Given the description of an element on the screen output the (x, y) to click on. 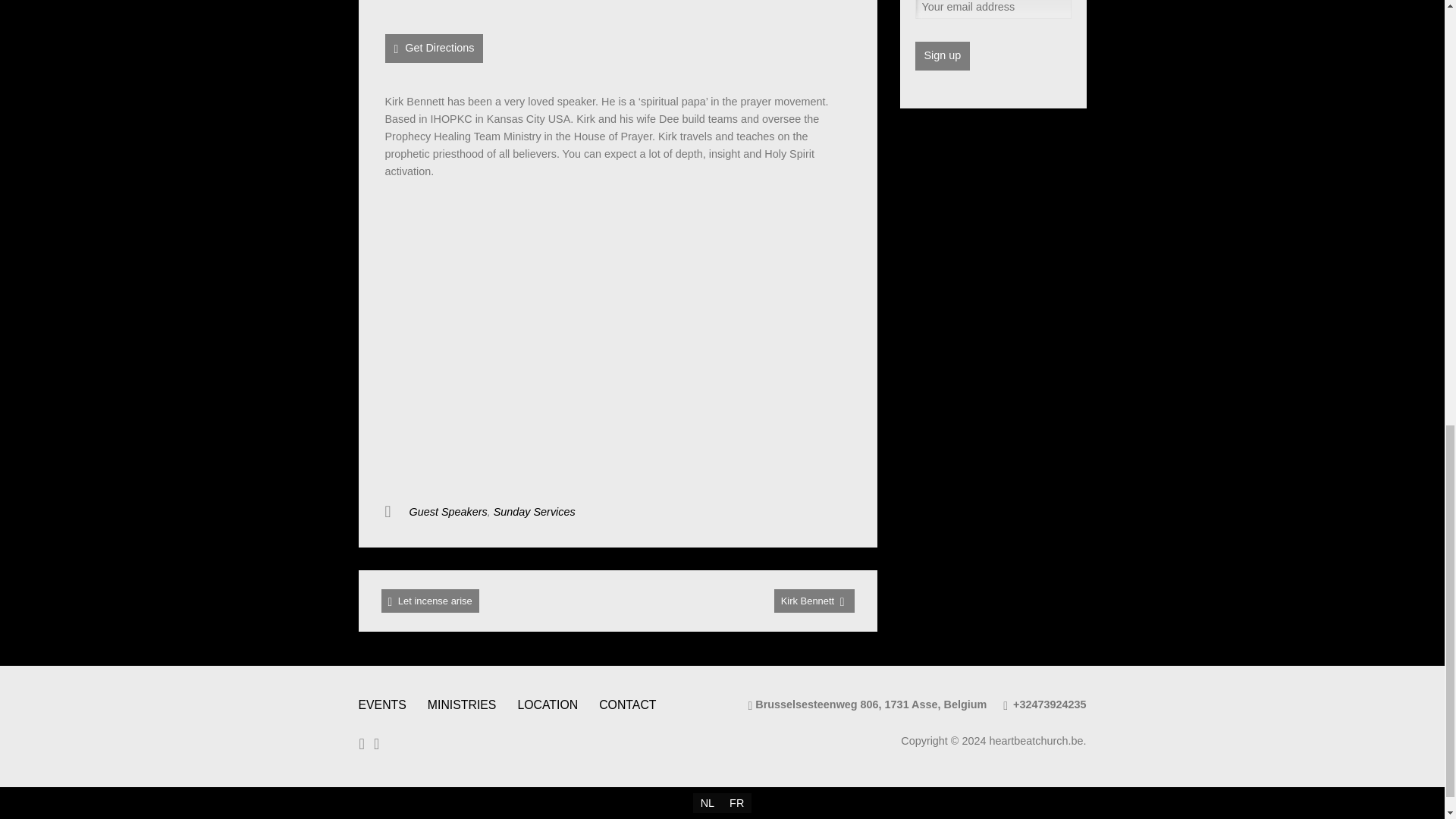
Sign up (941, 55)
Biblical Meditation with Kirk Bennett: Introduction (617, 334)
Get Directions (434, 48)
Guest Speakers (448, 511)
Let incense arise (429, 600)
Kirk Bennett (814, 600)
Sunday Services (534, 511)
EVENTS (382, 704)
Sign up (941, 55)
